Given the description of an element on the screen output the (x, y) to click on. 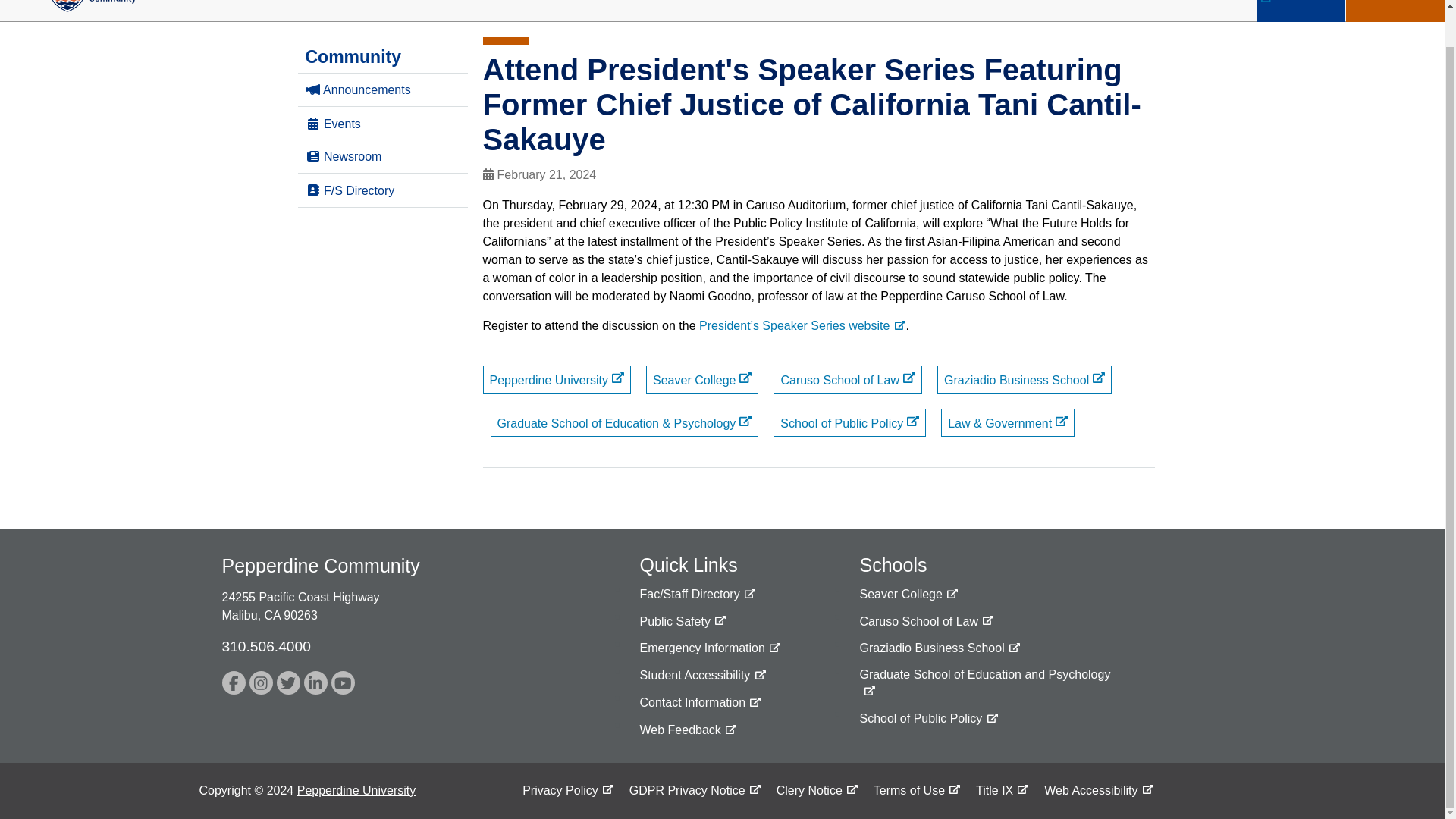
calendar icon (487, 174)
DIRECTORY (1300, 11)
open search (1234, 2)
Search site (1172, 3)
